Given the description of an element on the screen output the (x, y) to click on. 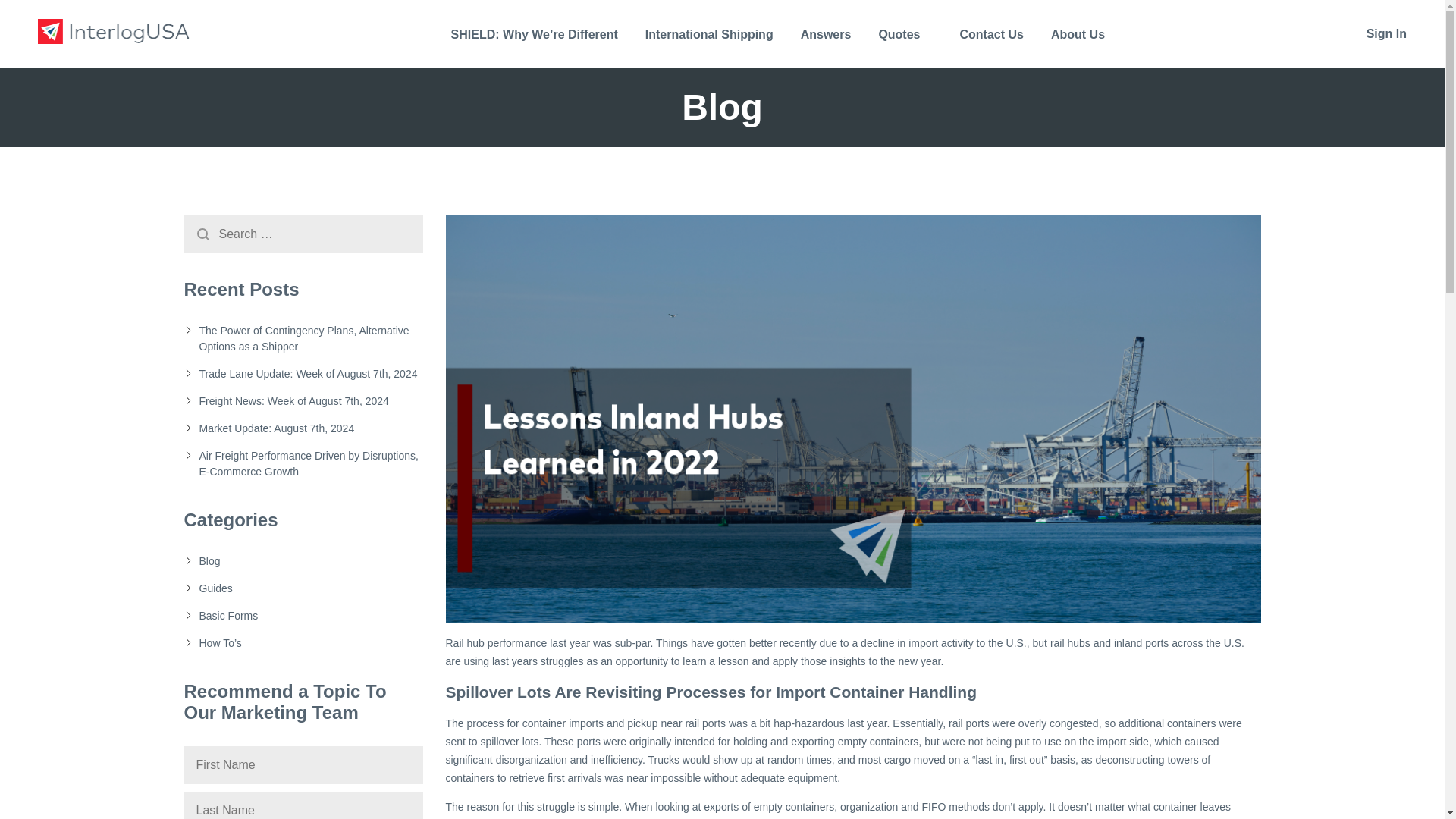
Search (202, 234)
International Shipping (709, 45)
Search (202, 234)
